Given the description of an element on the screen output the (x, y) to click on. 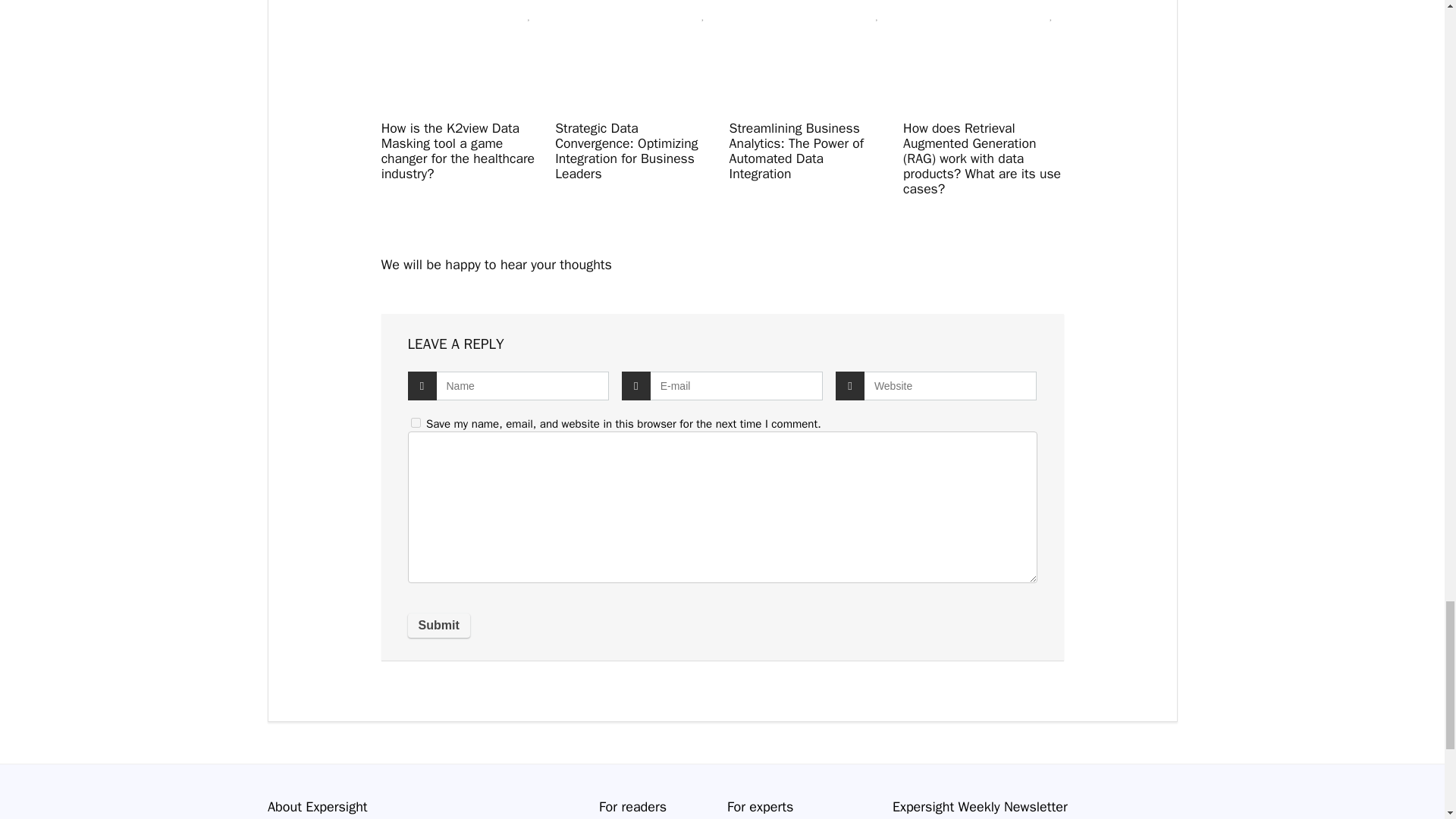
yes (415, 422)
Submit (438, 625)
